Given the description of an element on the screen output the (x, y) to click on. 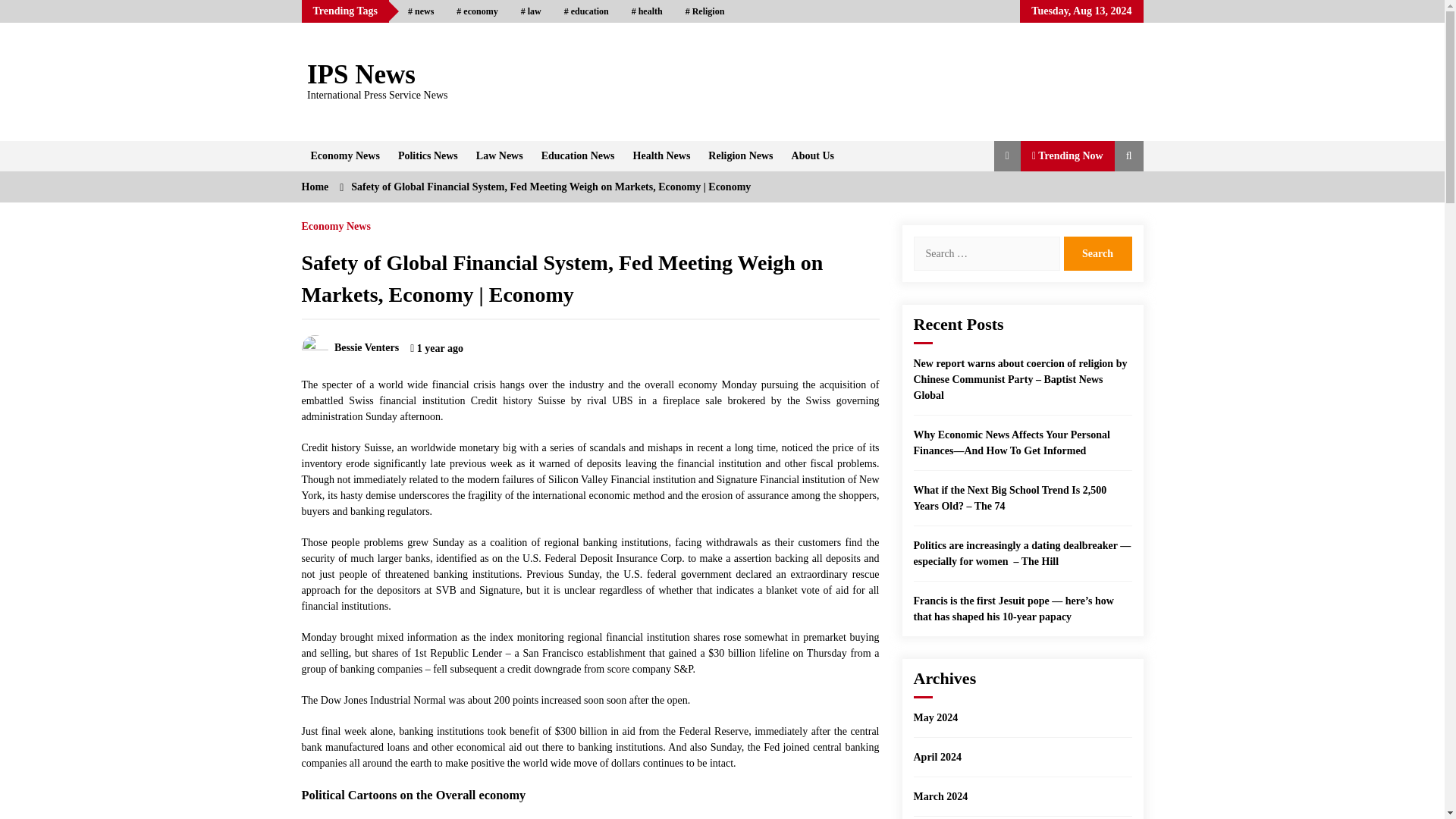
news (420, 11)
Health News (662, 155)
Religion (705, 11)
Search (1096, 253)
health (647, 11)
Politics News (427, 155)
Education News (578, 155)
Law News (499, 155)
About Us (813, 155)
education (586, 11)
